Given the description of an element on the screen output the (x, y) to click on. 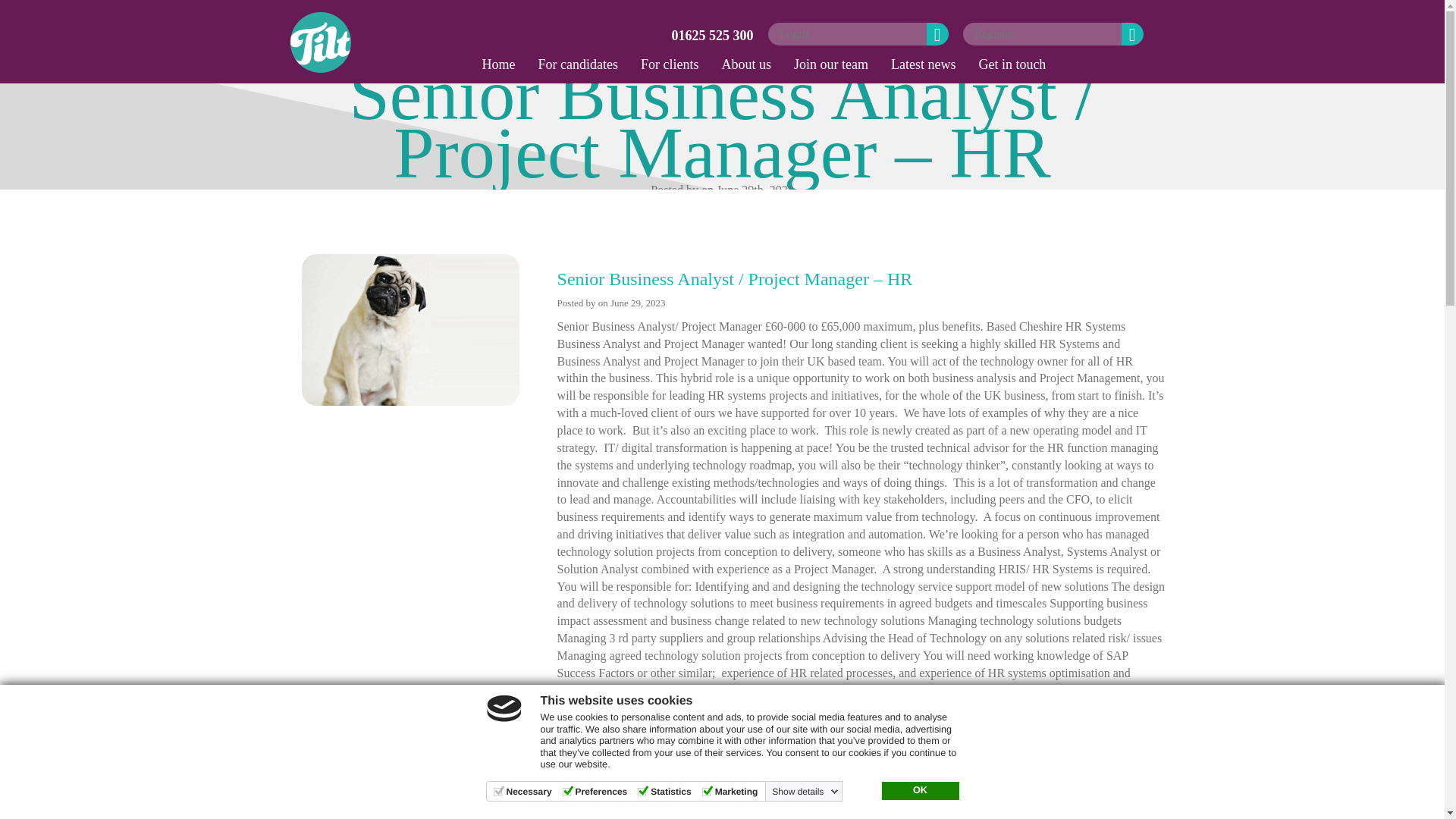
OK (919, 791)
Home (497, 64)
Show details (804, 791)
01625 525 300 (712, 35)
